Given the description of an element on the screen output the (x, y) to click on. 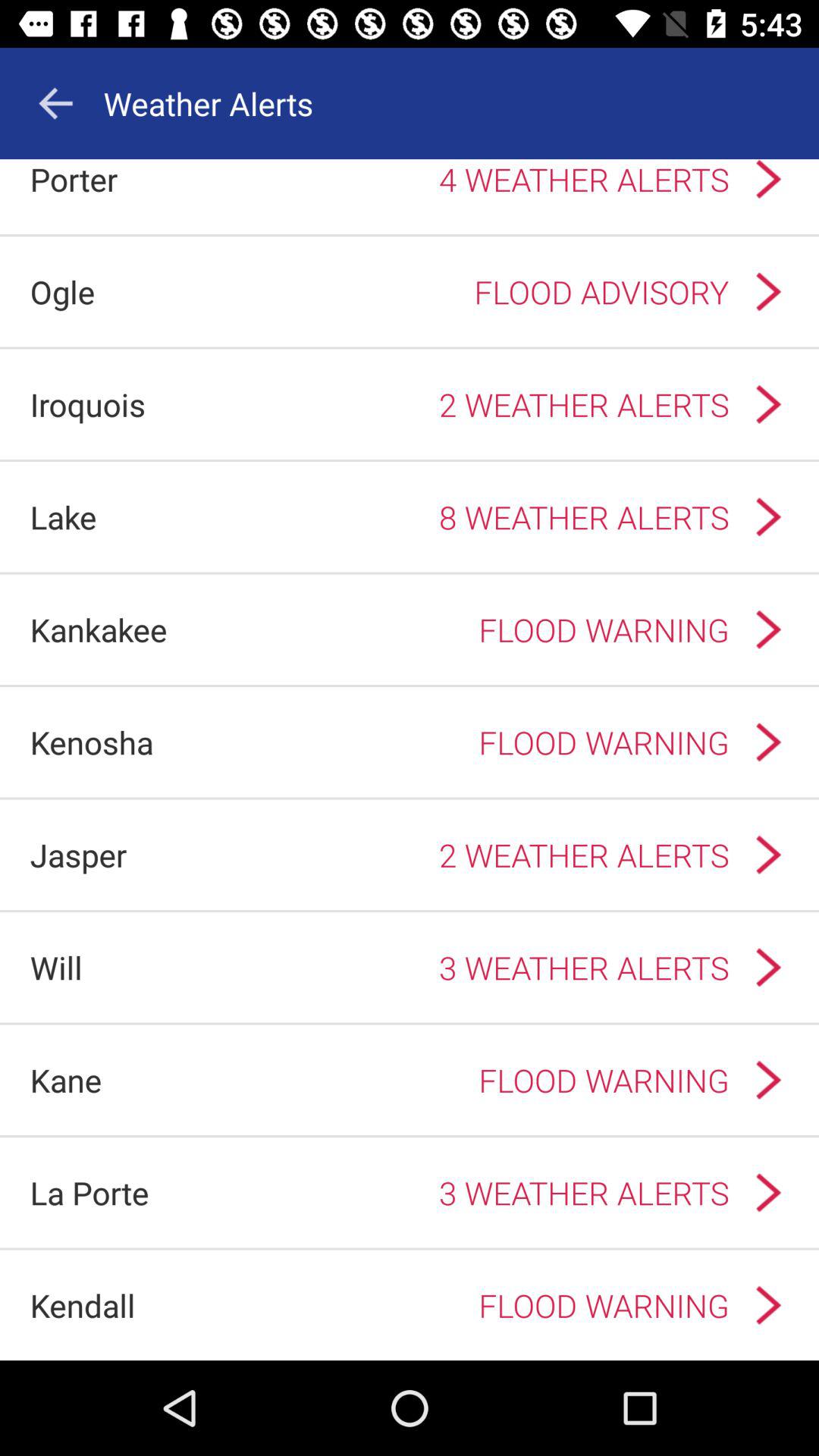
tap kane icon (65, 1079)
